Given the description of an element on the screen output the (x, y) to click on. 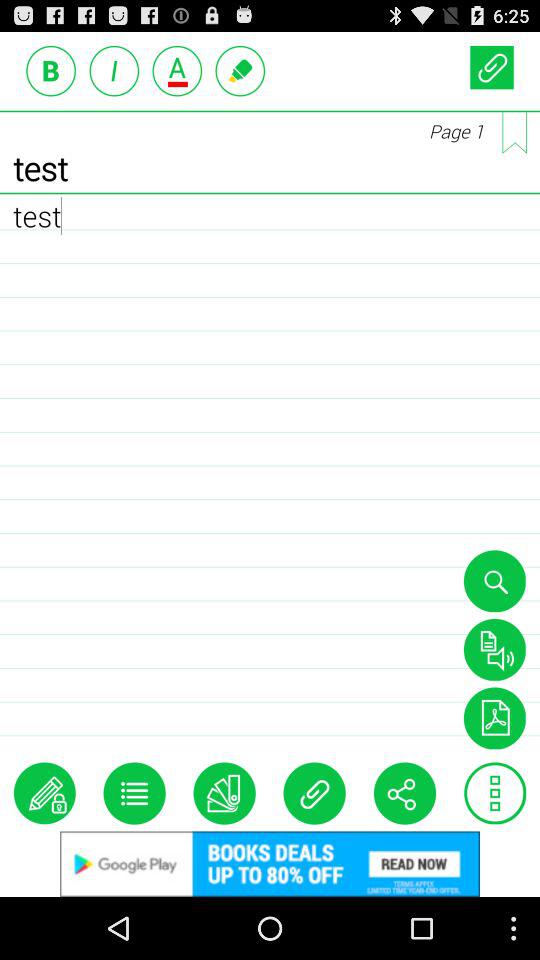
seach option (494, 581)
